Given the description of an element on the screen output the (x, y) to click on. 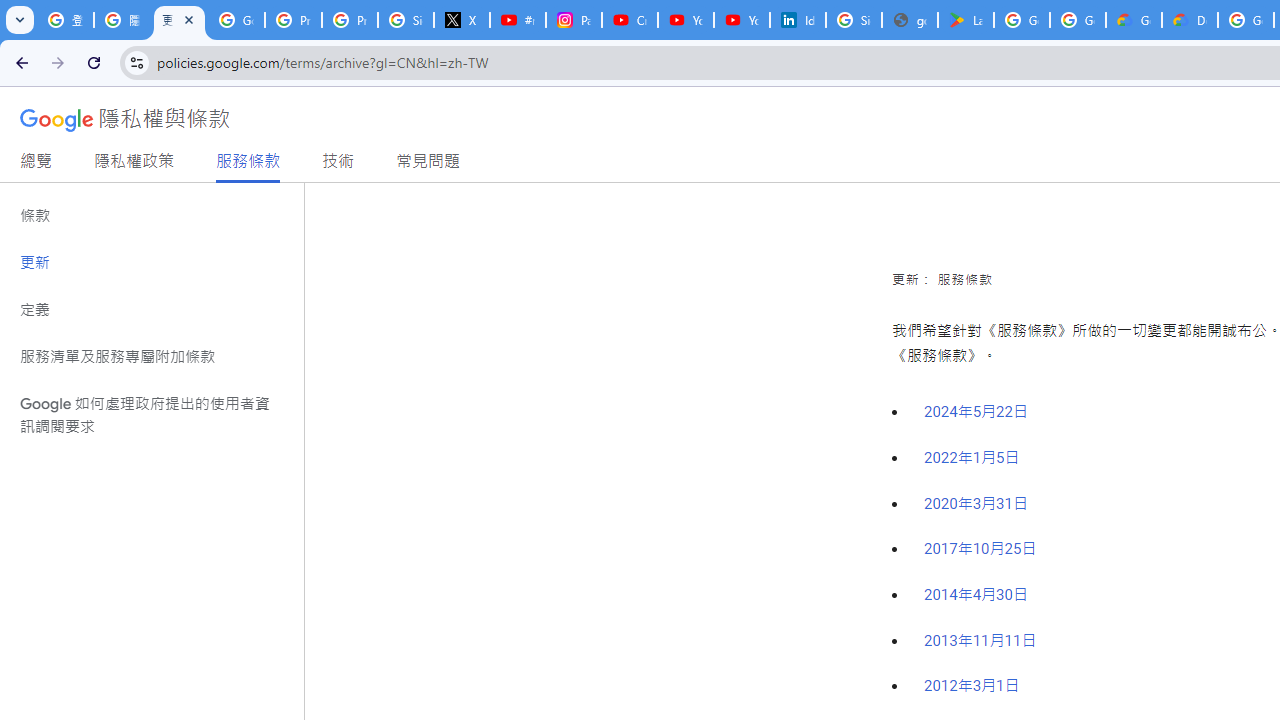
X (461, 20)
Privacy Help Center - Policies Help (349, 20)
Google Workspace - Specific Terms (1077, 20)
Government | Google Cloud (1133, 20)
